Given the description of an element on the screen output the (x, y) to click on. 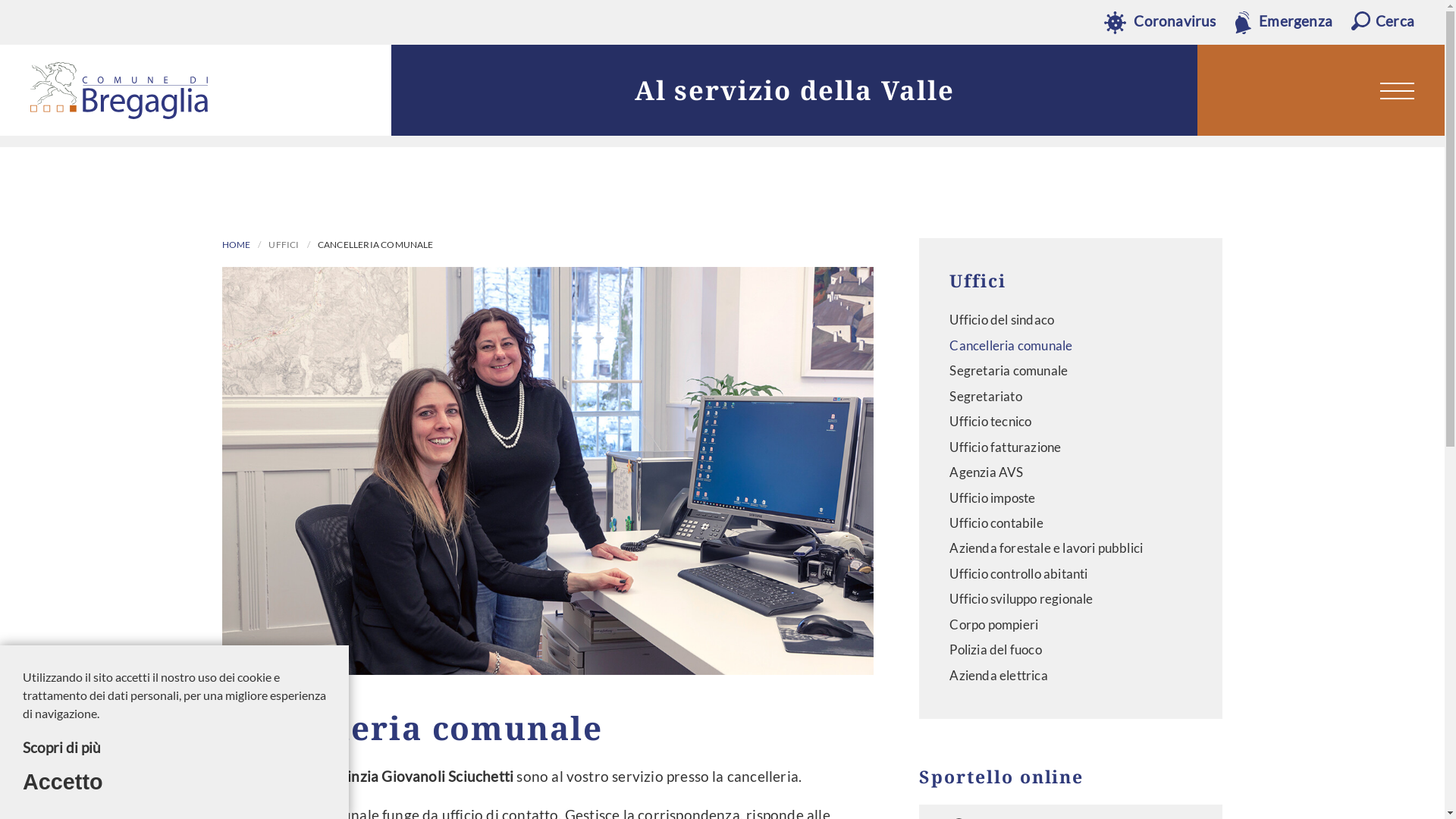
Segretariato Element type: text (1070, 396)
Accetto Element type: text (62, 781)
Segretaria comunale Element type: text (1070, 370)
Azienda forestale e lavori pubblici Element type: text (1070, 547)
Ufficio controllo abitanti Element type: text (1070, 573)
Ufficio fatturazione Element type: text (1070, 447)
Cancelleria comunale Element type: text (1070, 345)
Coronavirus Element type: text (1160, 20)
Agenzia AVS Element type: text (1070, 472)
Ufficio contabile Element type: text (1070, 522)
Polizia del fuoco Element type: text (1070, 649)
Corpo pompieri Element type: text (1070, 624)
Ufficio sviluppo regionale Element type: text (1070, 598)
Emergenza Element type: text (1283, 20)
Ufficio tecnico Element type: text (1070, 421)
Ufficio del sindaco Element type: text (1070, 319)
Cerca Element type: text (1382, 20)
Azienda elettrica Element type: text (1070, 675)
HOME Element type: text (235, 244)
Ufficio imposte Element type: text (1070, 497)
